Given the description of an element on the screen output the (x, y) to click on. 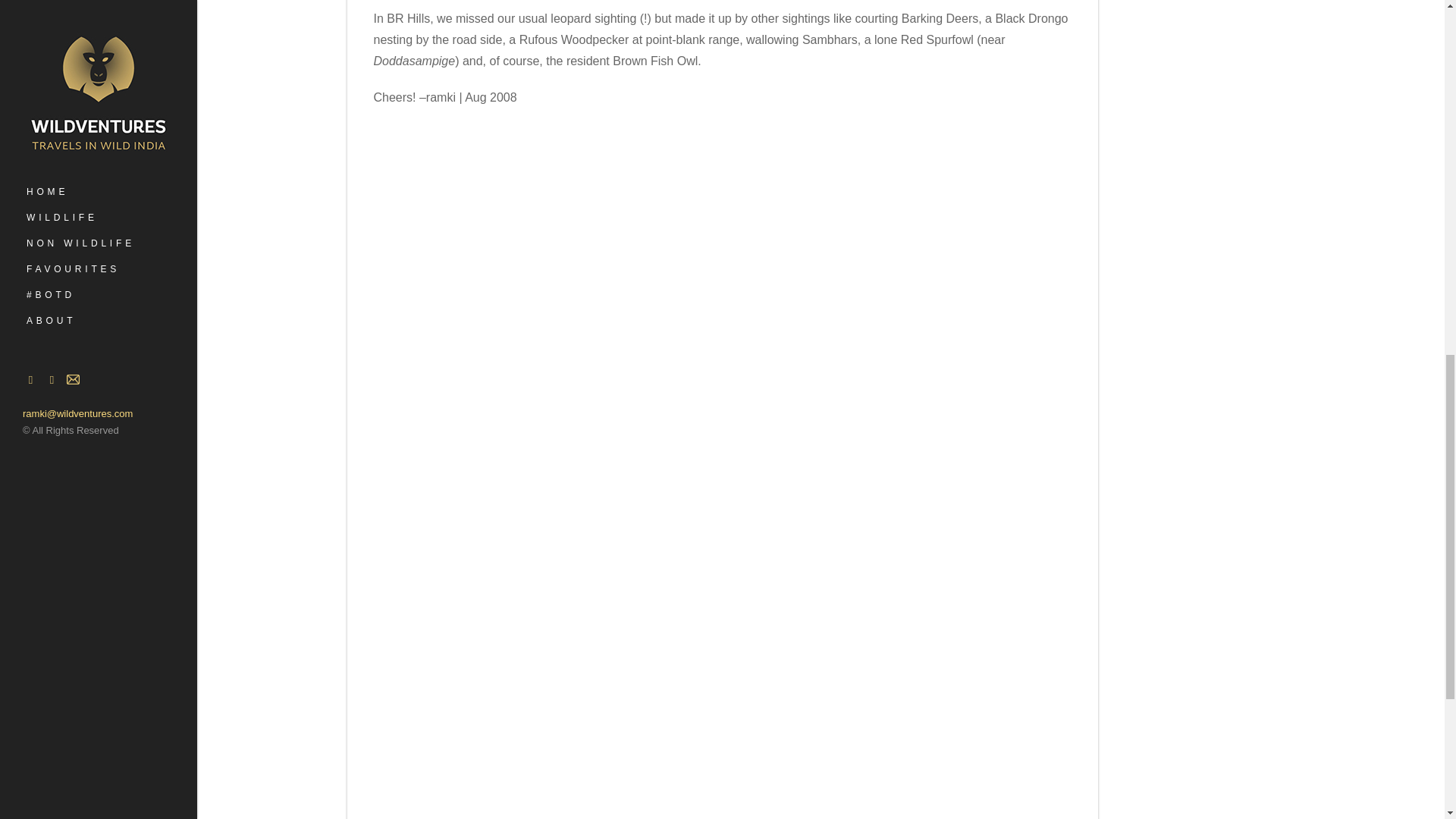
VIEW (810, 193)
VIEW (456, 645)
VIEW (633, 772)
VIEW (810, 645)
VIEW (987, 495)
VIEW (987, 645)
VIEW (987, 344)
VIEW (633, 193)
VIEW (456, 344)
VIEW (987, 193)
